Given the description of an element on the screen output the (x, y) to click on. 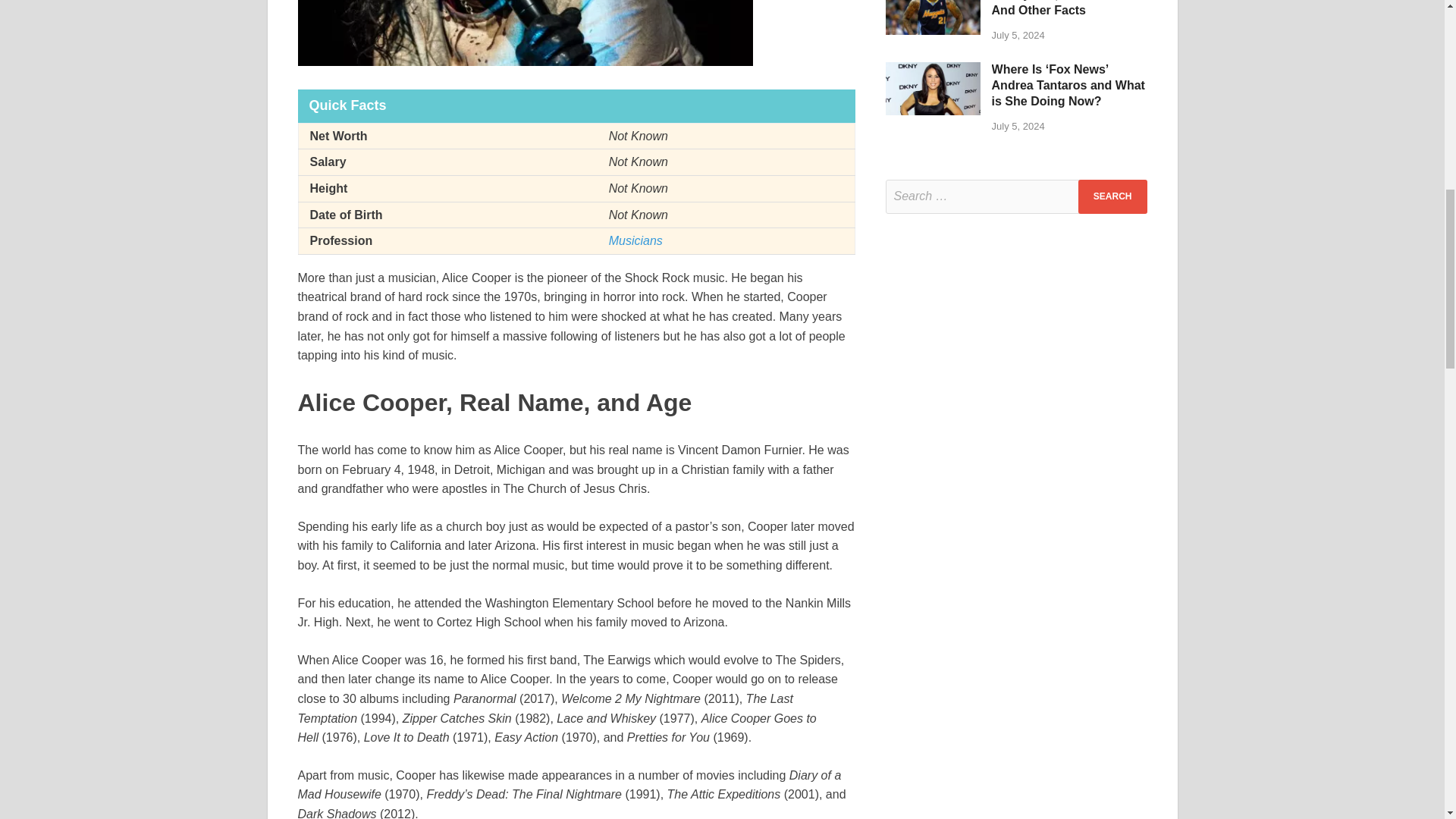
Search (1112, 196)
Musicians (635, 240)
Search (1112, 196)
